Given the description of an element on the screen output the (x, y) to click on. 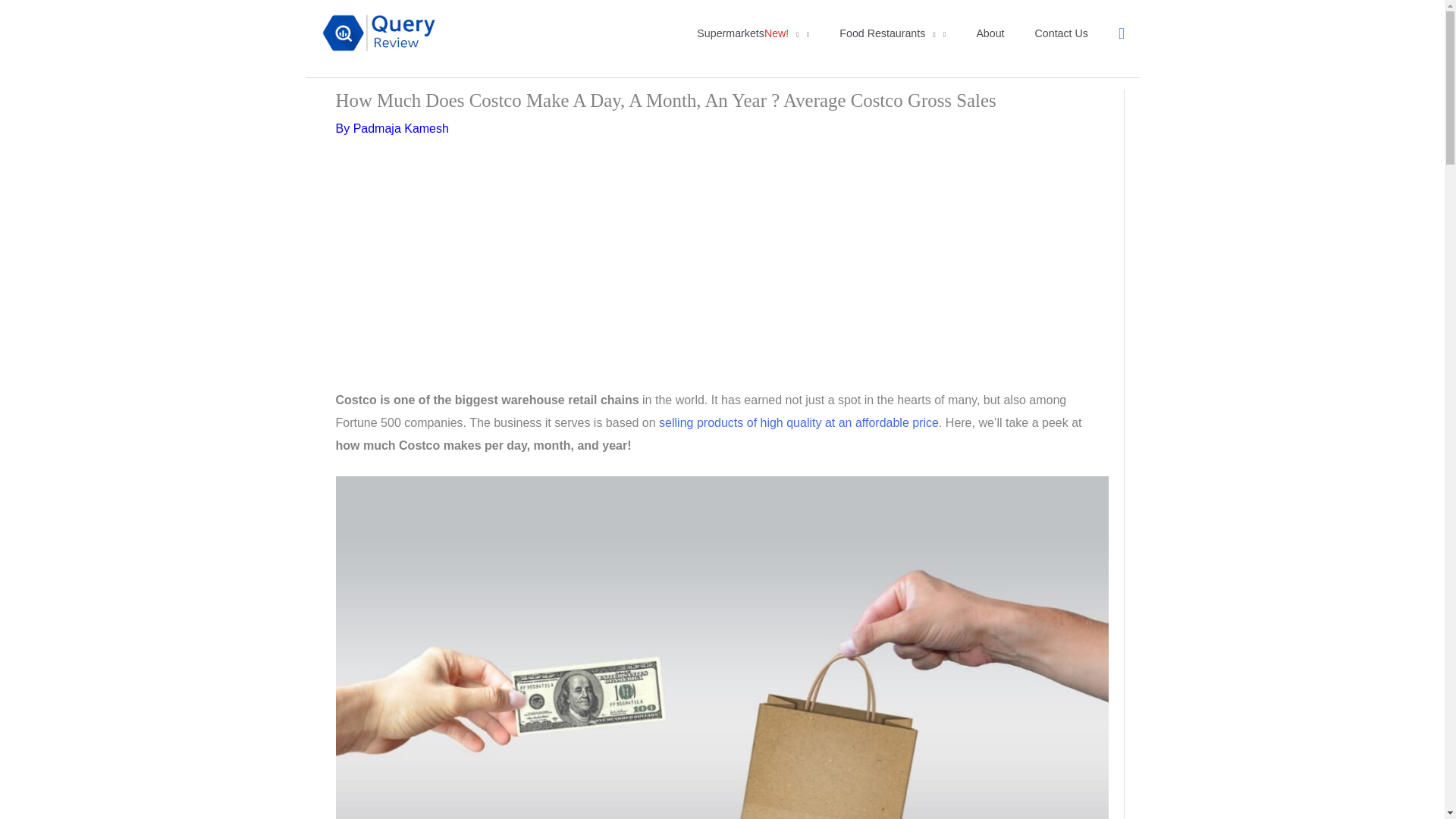
About (989, 32)
Advertisement (721, 274)
Search (1121, 33)
View all posts by Padmaja Kamesh (400, 128)
Food Restaurants (892, 32)
SupermarketsNew! (752, 32)
Padmaja Kamesh (400, 128)
Contact Us (1061, 32)
selling products of high quality at an affordable price (799, 422)
